Given the description of an element on the screen output the (x, y) to click on. 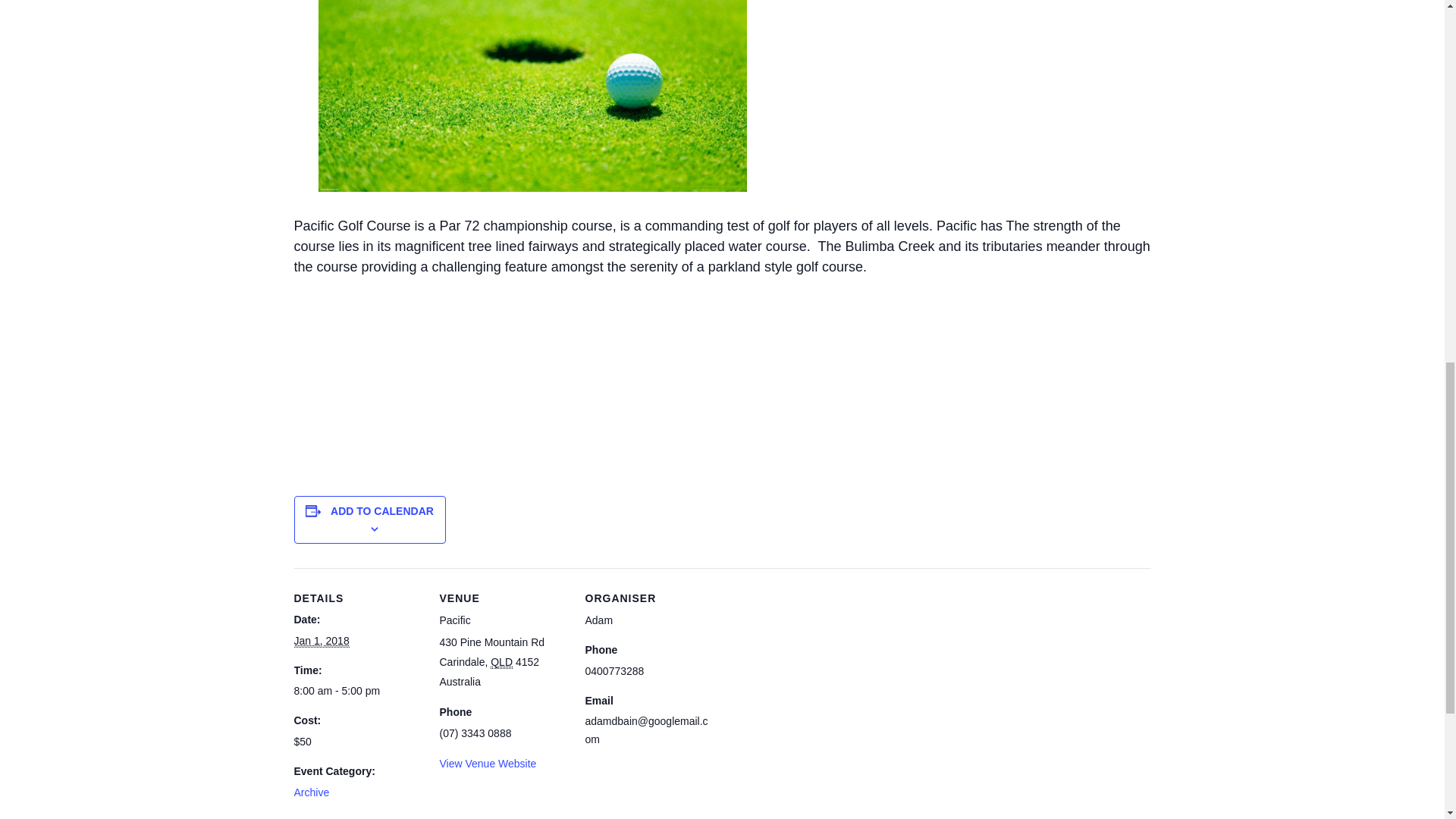
View Venue Website (488, 763)
QLD (501, 662)
2018-01-01 (358, 690)
2018-01-01 (321, 640)
Archive (312, 792)
ADD TO CALENDAR (381, 510)
